Given the description of an element on the screen output the (x, y) to click on. 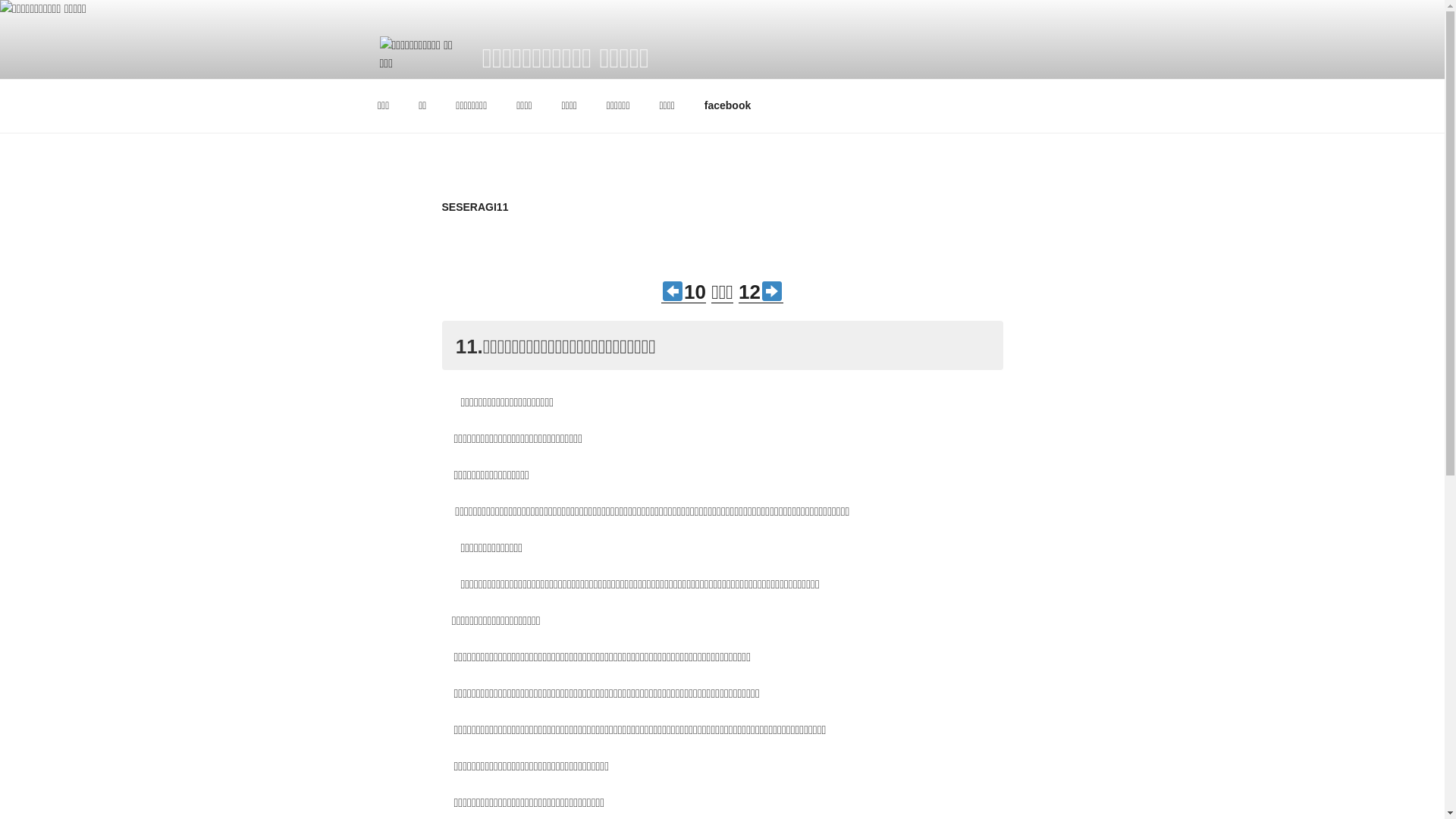
12 Element type: text (760, 291)
facebook Element type: text (726, 105)
10 Element type: text (683, 291)
